Given the description of an element on the screen output the (x, y) to click on. 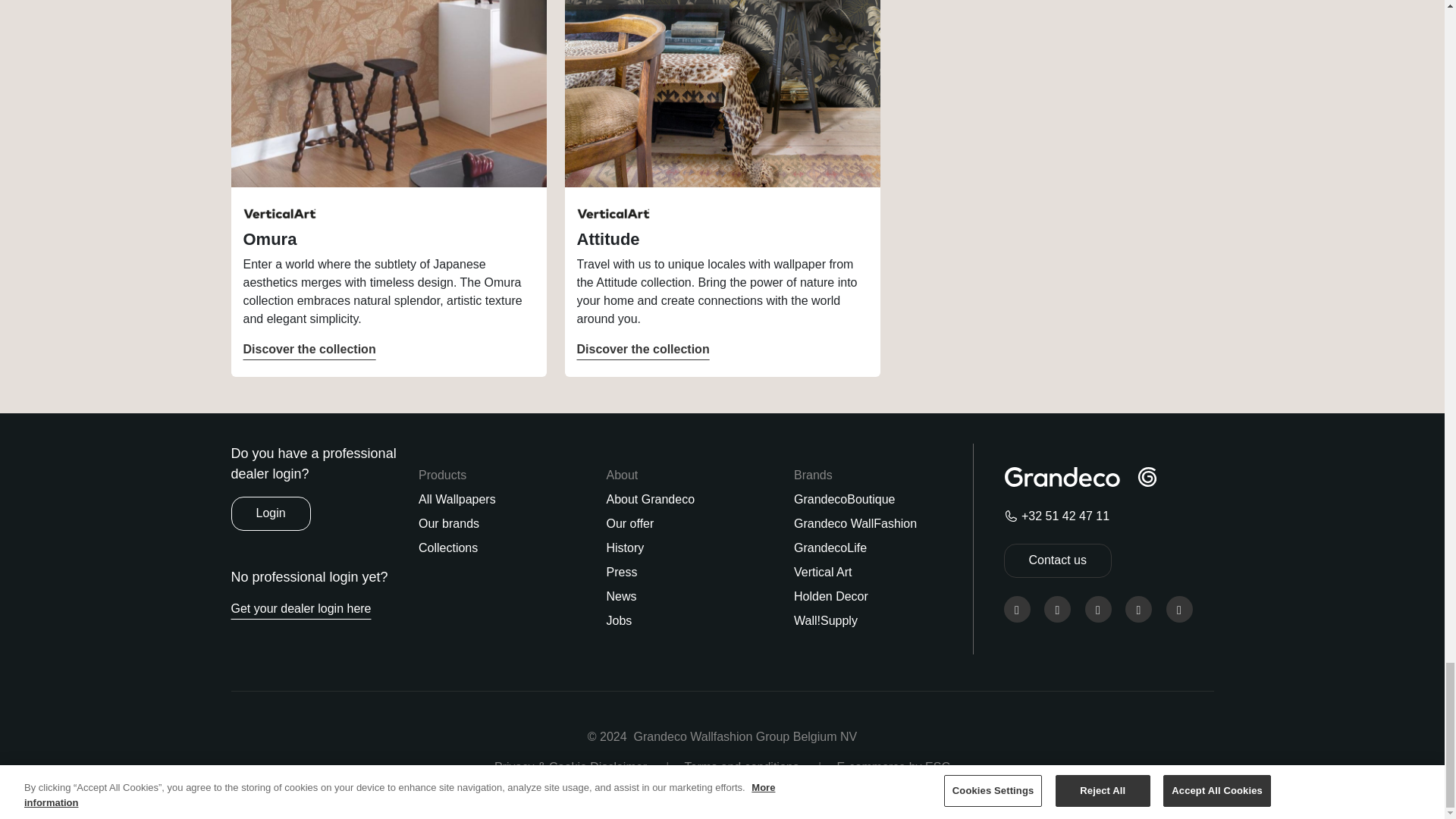
Vertical Art (279, 213)
Vertical Art (279, 214)
attitude2 (721, 93)
om2 0 (388, 93)
